Given the description of an element on the screen output the (x, y) to click on. 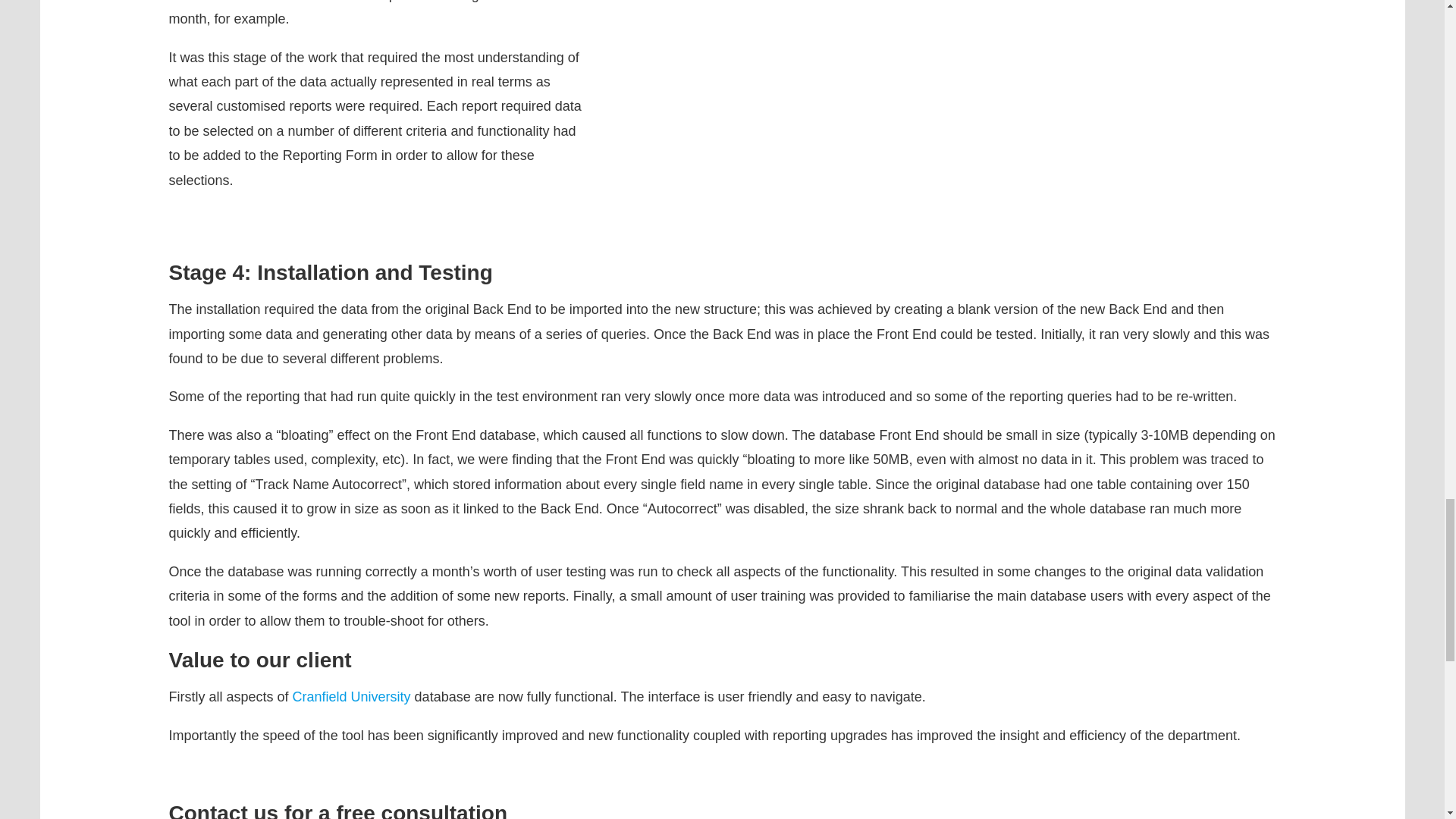
Cranfield University (351, 696)
